Given the description of an element on the screen output the (x, y) to click on. 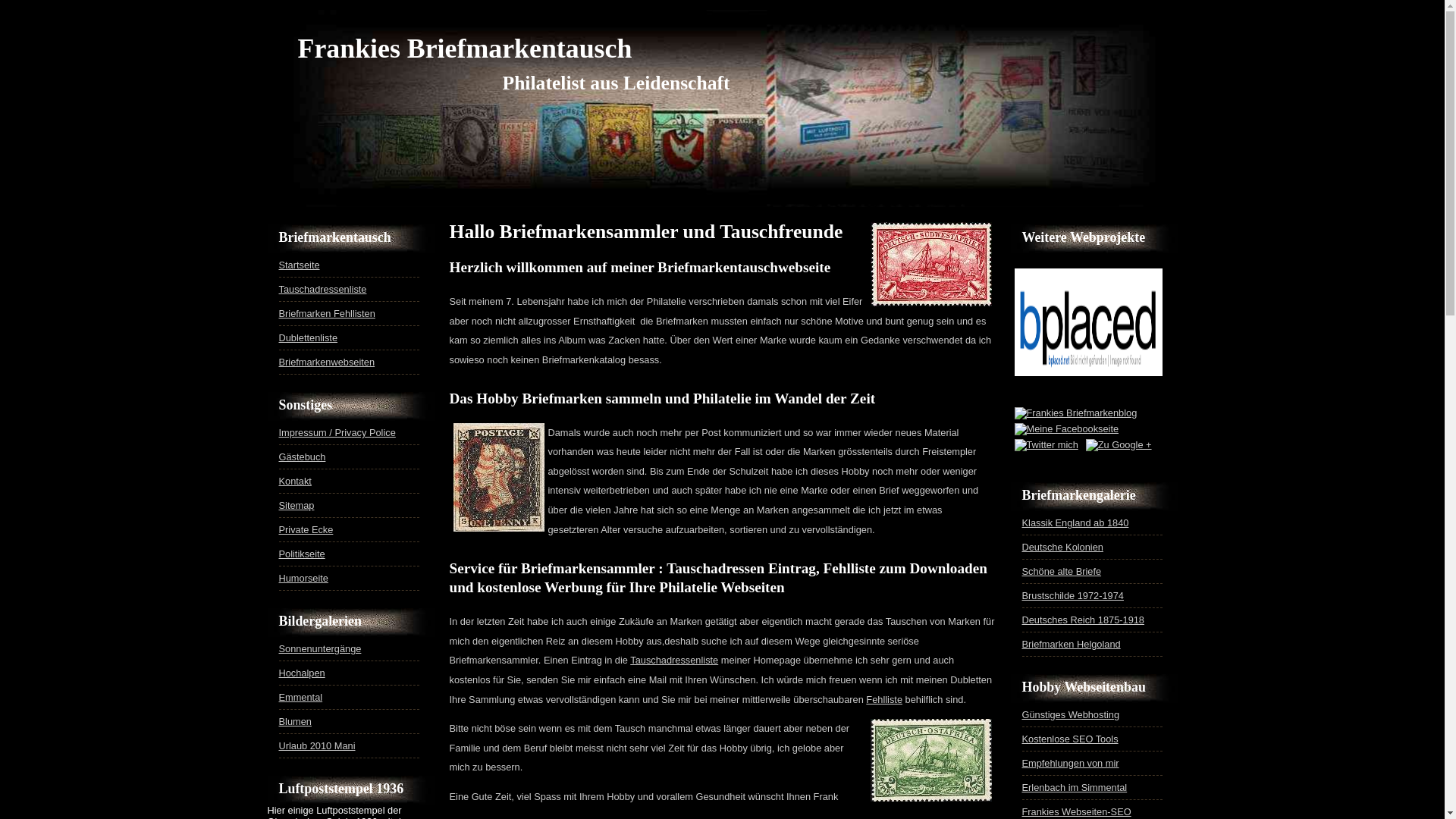
Deutsches Reich 1875-1918 Element type: text (1083, 619)
Briefmarken Fehllisten Element type: text (327, 313)
Erlenbach im Simmental Element type: text (1074, 787)
Briefmarken Olympische Spiele 1936 Element type: hover (1087, 376)
Tauschadressenliste Element type: text (674, 659)
Brustschilde 1972-1974 Element type: text (1072, 595)
Black Penny die erst Briefmarke der Welt Element type: hover (498, 477)
Deutsche Kolonien Element type: text (1062, 546)
Twitter mich Element type: hover (1046, 445)
Tauschadressenliste Element type: text (323, 288)
Dublettenliste Element type: text (308, 337)
Blumen Element type: text (295, 721)
Briefmarke Deutsche Kolonien Element type: hover (930, 264)
Zu Google + Element type: hover (1118, 445)
Twitter mich Element type: hover (1045, 444)
Briefmarkenwebseiten Element type: text (327, 361)
Empfehlungen von mir Element type: text (1070, 762)
Frankies Webseiten-SEO Element type: text (1076, 811)
Sitemap Element type: text (296, 505)
Politikseite Element type: text (302, 553)
Impressum / Privacy Police Element type: text (337, 432)
Private Ecke Element type: text (306, 529)
Frankies Briefmarkenblog Element type: hover (1075, 413)
Hochalpen Element type: text (302, 672)
Humorseite Element type: text (303, 577)
Urlaub 2010 Mani Element type: text (317, 745)
Briefmarken Helgoland Element type: text (1071, 643)
Briefmarkenblog Element type: hover (1118, 444)
Emmental Element type: text (301, 696)
Startseite Element type: text (299, 264)
Kostenlose SEO Tools Element type: text (1070, 738)
Briefmarke Kolonie Deutsch-Ostafrika Element type: hover (930, 759)
Fehlliste Element type: text (884, 699)
Klassik England ab 1840 Element type: text (1075, 522)
Olympia 1936 auf Briefmarken Element type: hover (1088, 322)
Facebook Element type: hover (1066, 428)
Meine Facebookseite Element type: hover (1066, 429)
Briefmarkenblog Element type: hover (1075, 412)
Kontakt Element type: text (295, 480)
